Given the description of an element on the screen output the (x, y) to click on. 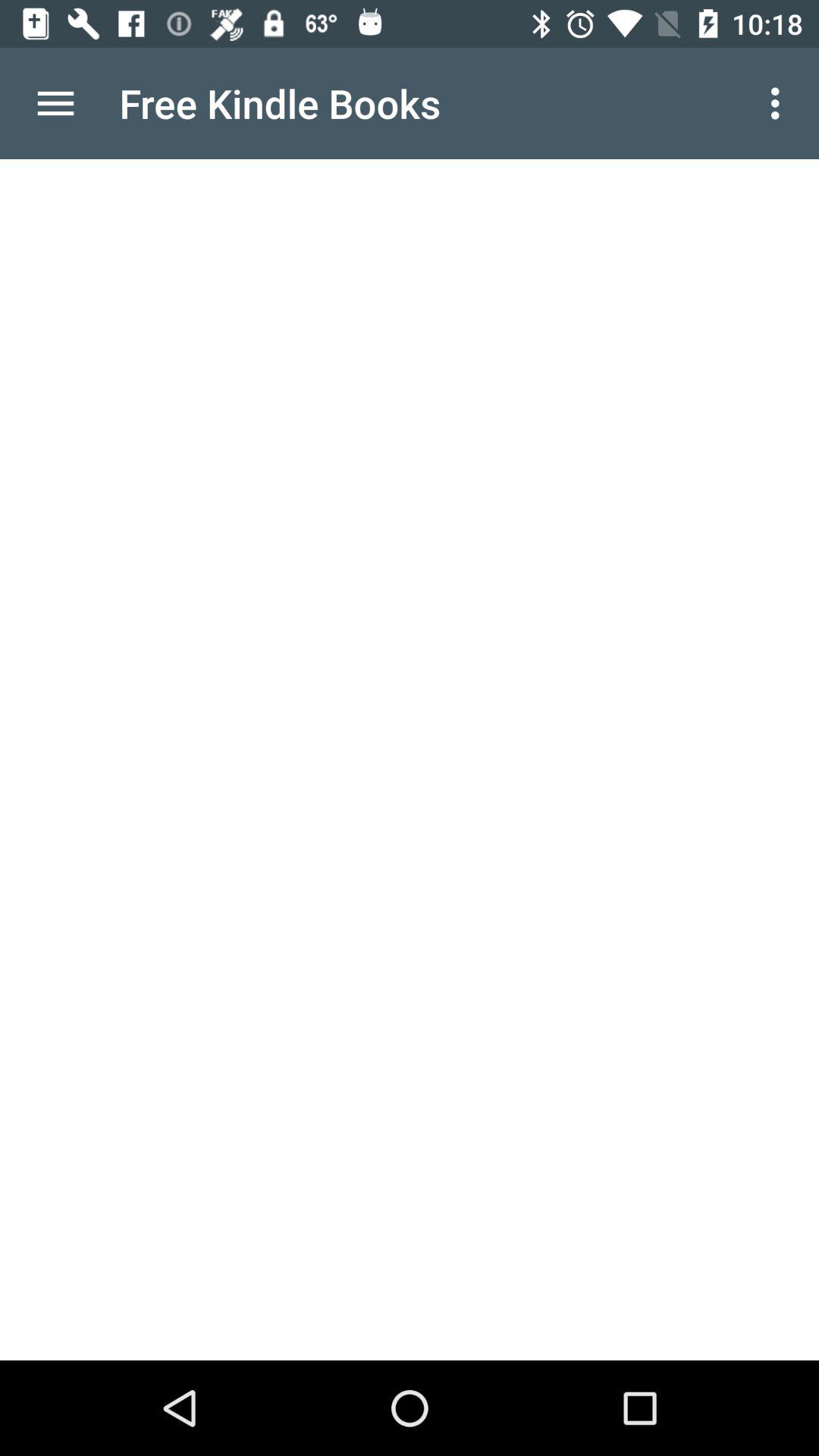
turn on the item at the top left corner (55, 103)
